Given the description of an element on the screen output the (x, y) to click on. 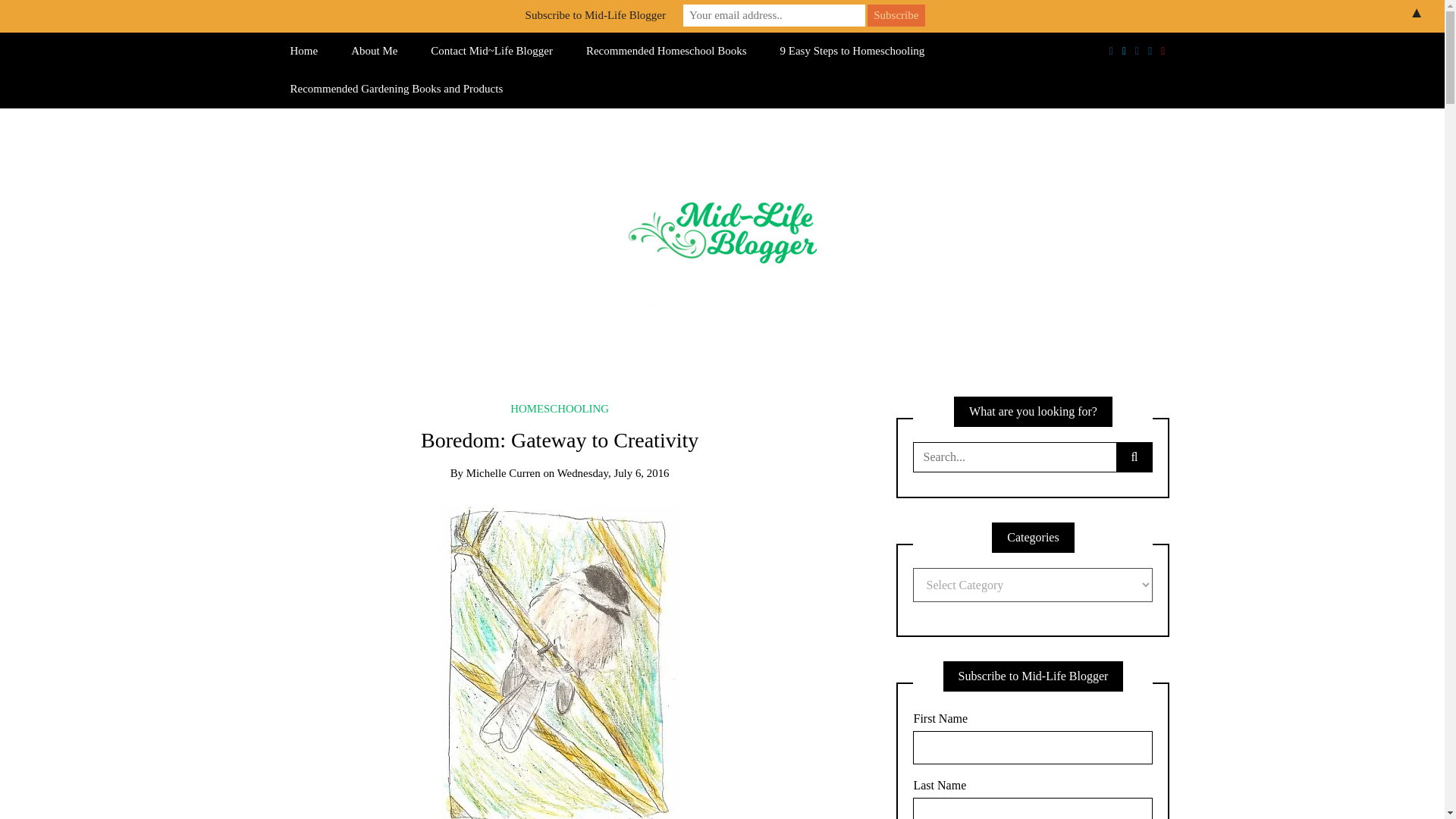
Recommended Homeschool Books (665, 51)
Subscribe (895, 15)
HOMESCHOOLING (559, 408)
About Me (374, 51)
Posts by Michelle Curren (502, 472)
Wednesday, July 6, 2016 (613, 472)
Permalink to: "Boredom: Gateway to Creativity" (560, 665)
Recommended Gardening Books and Products (396, 89)
Home (304, 51)
Michelle Curren (502, 472)
9 Easy Steps to Homeschooling (852, 51)
